Given the description of an element on the screen output the (x, y) to click on. 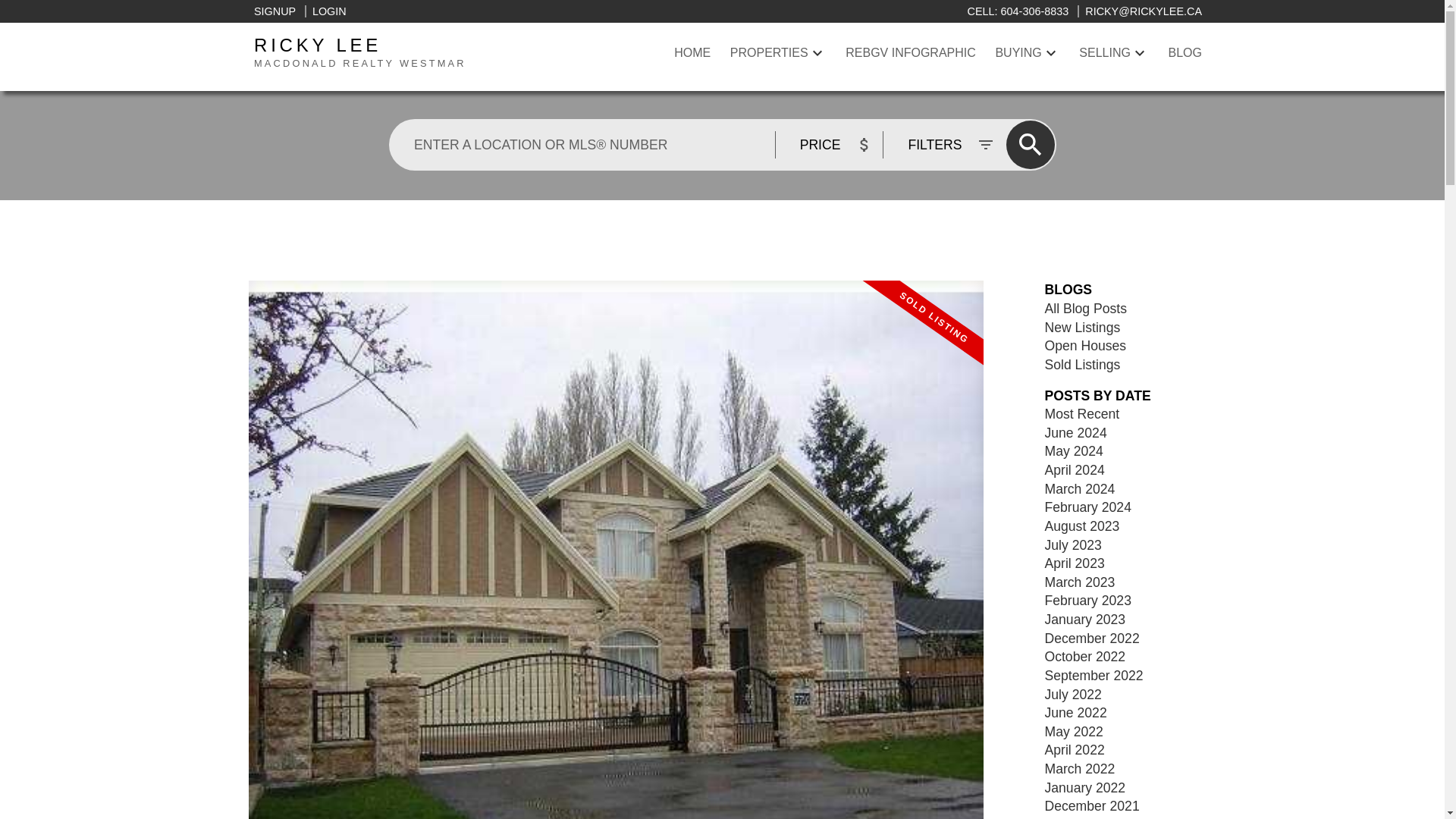
REBGV INFOGRAPHIC (910, 53)
January 2023 (1085, 619)
Sold Listings (1083, 364)
BLOG (1185, 53)
May 2024 (1074, 450)
March 2023 (1080, 581)
New Listings (1083, 327)
SIGNUP (409, 52)
All Blog Posts (274, 10)
HOME (1085, 308)
February 2024 (692, 53)
March 2024 (1088, 507)
LOGIN (1080, 488)
Open Houses (325, 10)
